Given the description of an element on the screen output the (x, y) to click on. 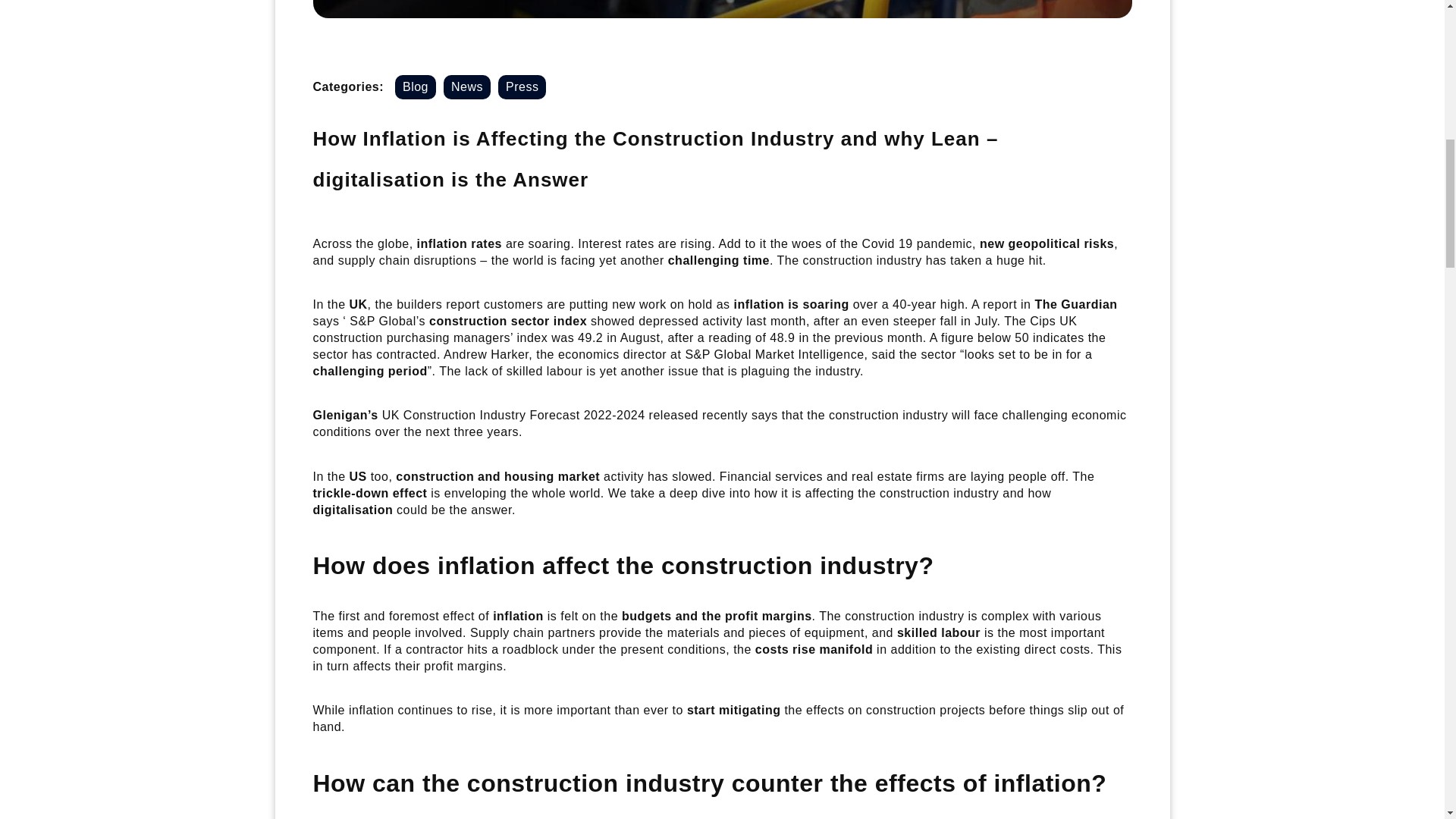
News (467, 86)
The Guardian (1074, 304)
Press (521, 86)
Blog (414, 86)
